Given the description of an element on the screen output the (x, y) to click on. 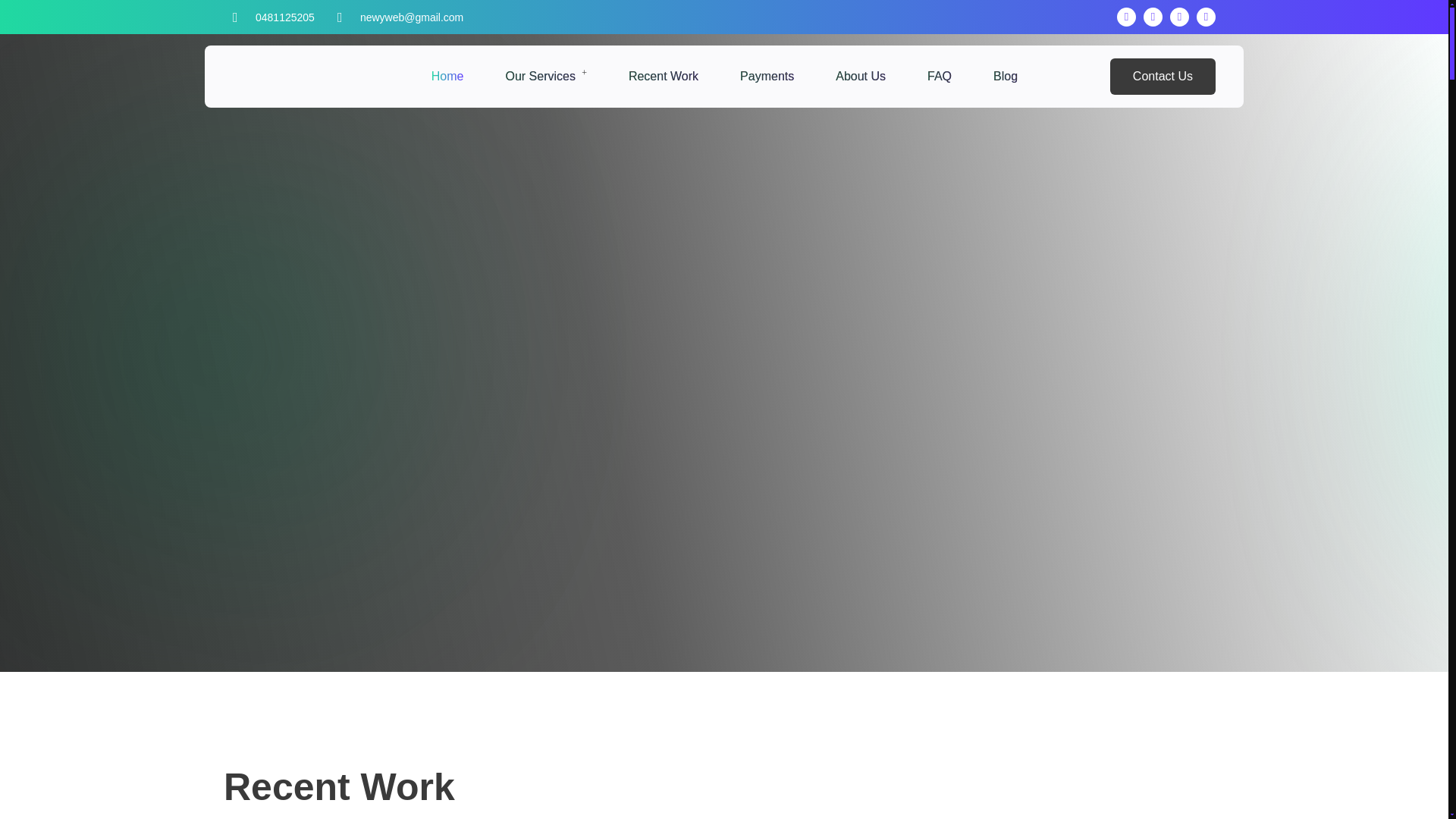
Recent Work (663, 76)
Payments (766, 76)
0481125205 (285, 17)
Our Services (545, 76)
About Us (860, 76)
Recent Work (663, 76)
Contact Us (1162, 76)
Our Services (545, 76)
